Given the description of an element on the screen output the (x, y) to click on. 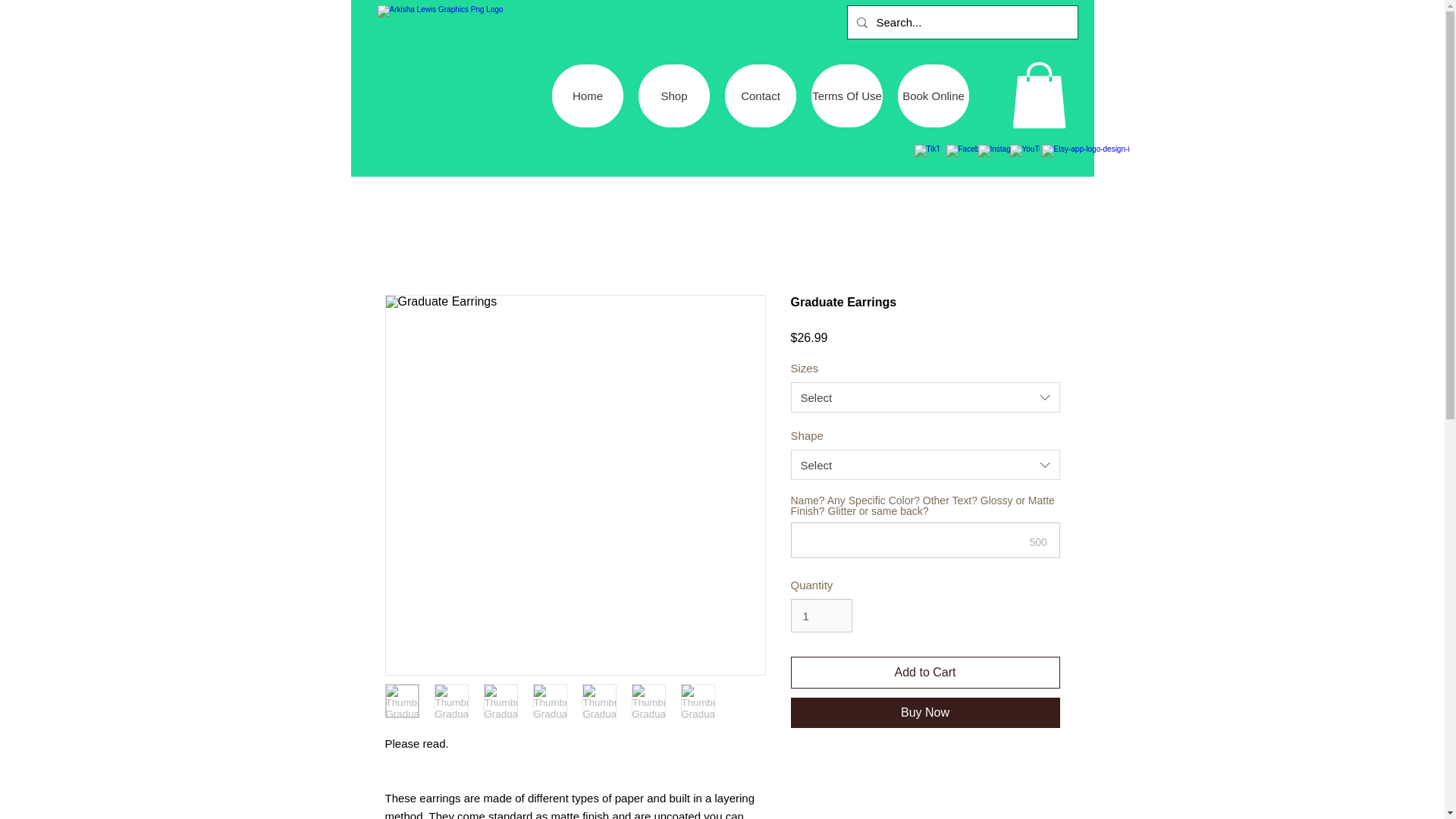
Home (587, 95)
Select (924, 464)
Contact (760, 95)
Select (924, 397)
Shop (674, 95)
Add to Cart (924, 672)
Buy Now (924, 712)
1 (820, 615)
Terms Of Use (846, 95)
Book Online (933, 95)
